Given the description of an element on the screen output the (x, y) to click on. 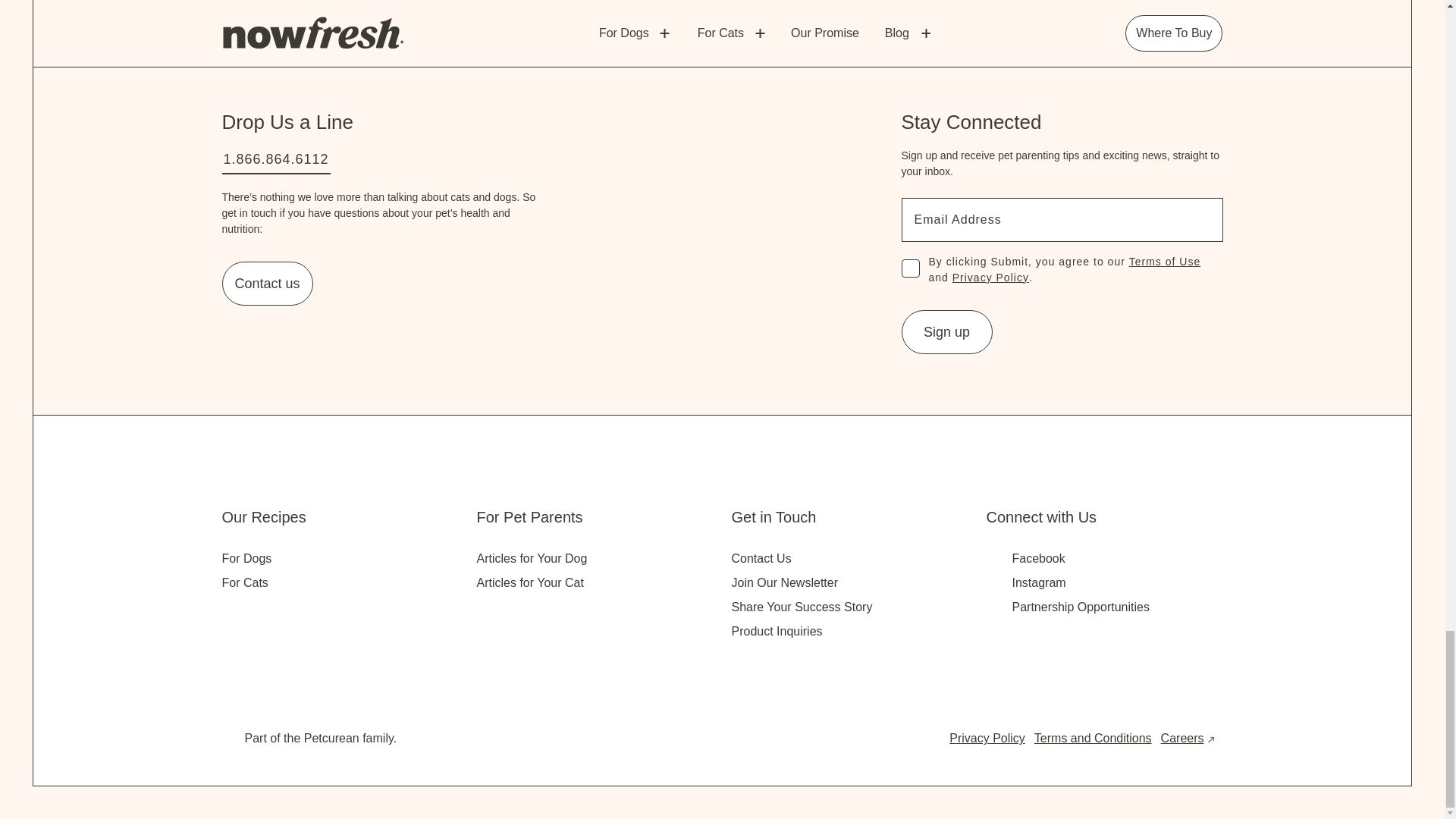
on (909, 268)
